Given the description of an element on the screen output the (x, y) to click on. 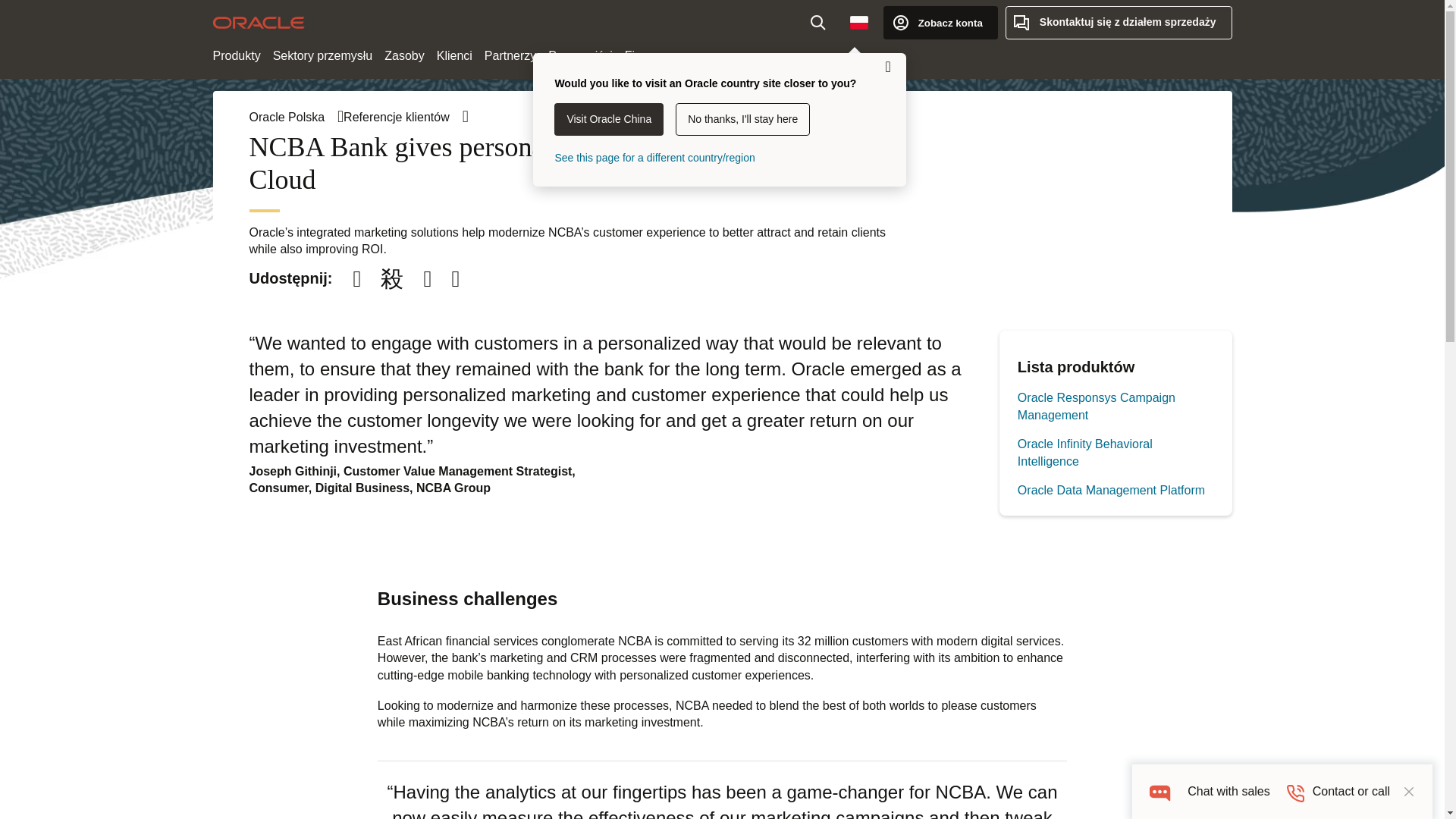
No thanks, I'll stay here (742, 119)
Firma (640, 55)
Klienci (454, 55)
Country (859, 22)
Visit Oracle China (608, 119)
Share on Twitter (392, 278)
Produkty (236, 55)
Zasoby (403, 55)
Zobacz konta (940, 22)
Partnerzy (510, 55)
Oracle Polska (295, 116)
